Given the description of an element on the screen output the (x, y) to click on. 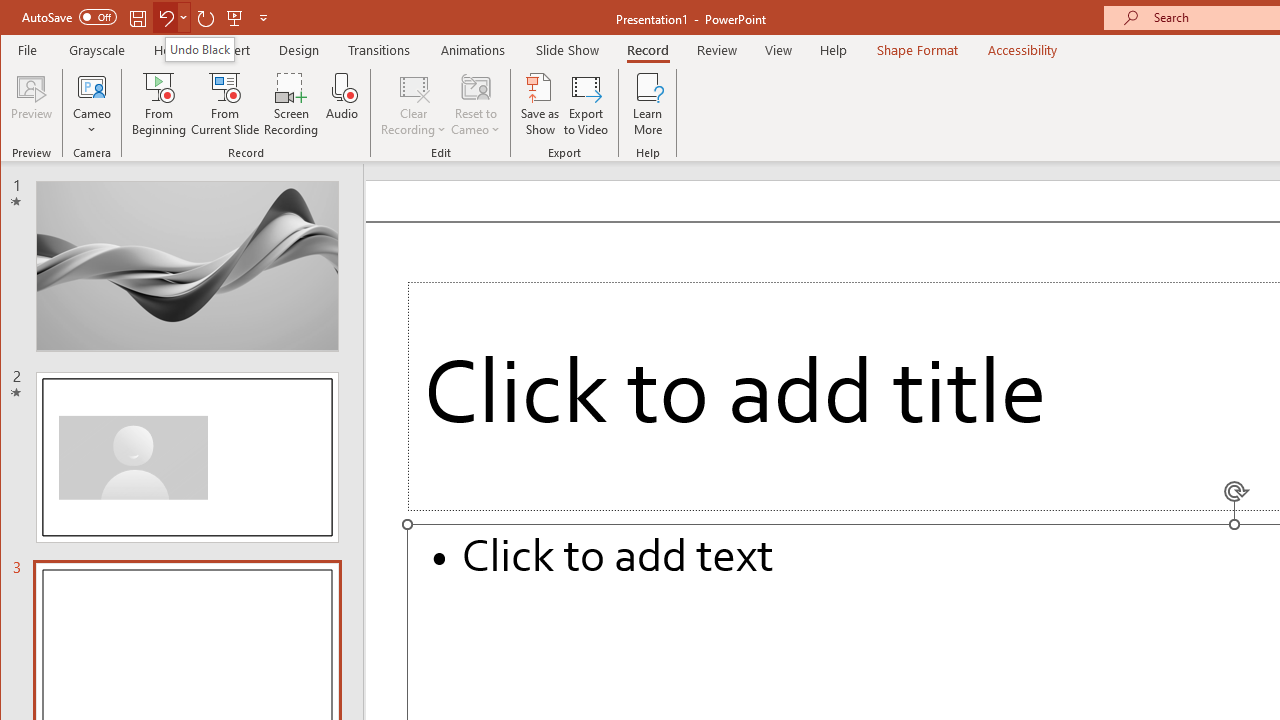
Clear Recording (413, 104)
Undo Black (200, 48)
Shape Format (916, 50)
Reset to Cameo (476, 104)
Preview (31, 104)
Learn More (648, 104)
Export to Video (585, 104)
From Current Slide... (225, 104)
